Given the description of an element on the screen output the (x, y) to click on. 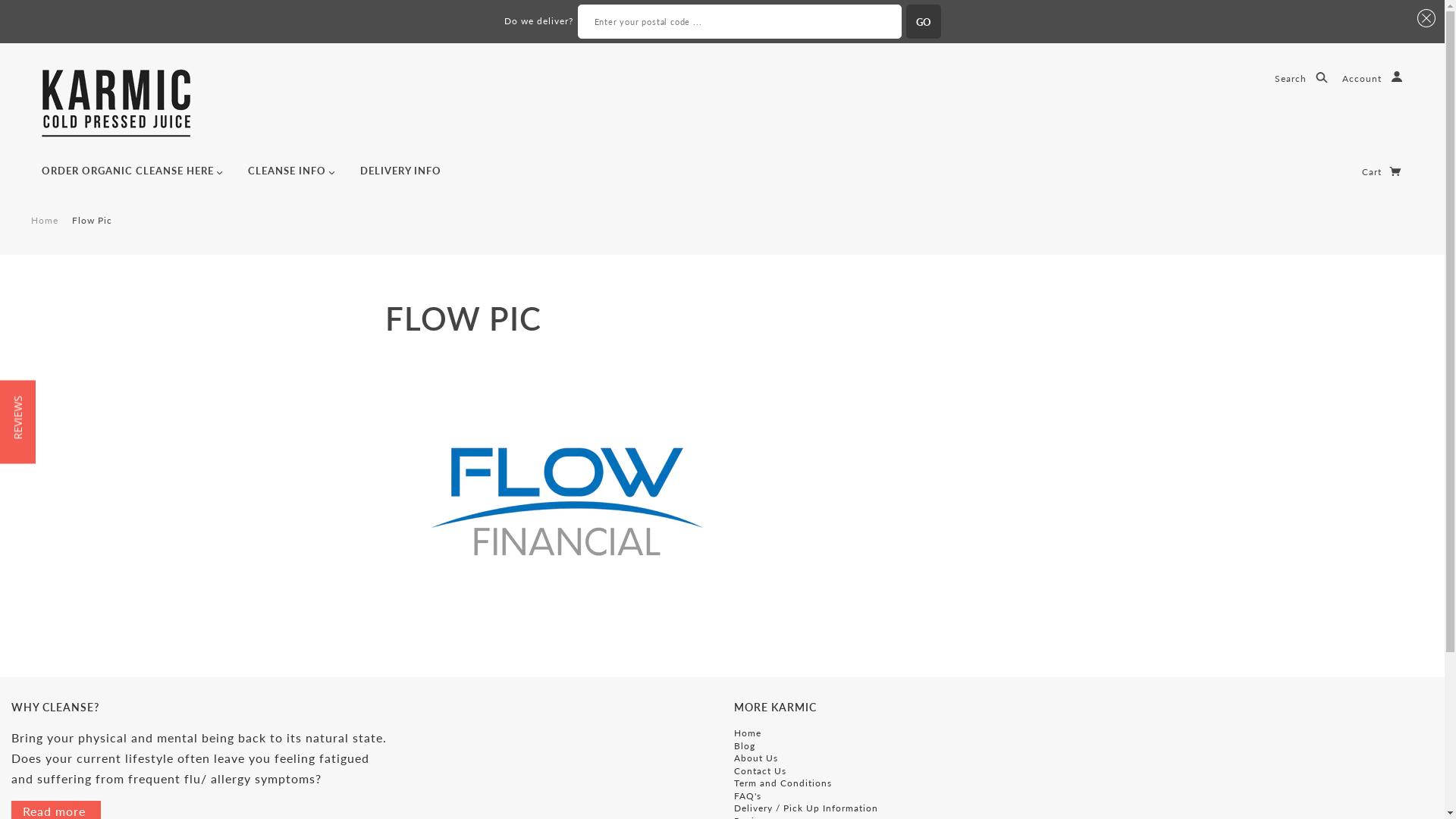
Home Element type: text (747, 732)
CLEANSE INFO Element type: text (290, 176)
Blog Element type: text (744, 745)
DELIVERY INFO Element type: text (400, 176)
KARMIC Cold Pressed Juice Element type: hover (118, 100)
GO Element type: text (922, 21)
Delivery / Pick Up Information Element type: text (806, 807)
Read more  Element type: text (55, 810)
Term and Conditions Element type: text (782, 782)
Flow Pic Element type: text (92, 220)
Cart Element type: text (1381, 171)
FAQ's Element type: text (747, 795)
Contact Us Element type: text (760, 770)
Account Element type: text (1372, 78)
About Us Element type: text (756, 757)
ORDER ORGANIC CLEANSE HERE Element type: text (131, 176)
Search Element type: text (1300, 78)
Home Element type: text (44, 220)
